Given the description of an element on the screen output the (x, y) to click on. 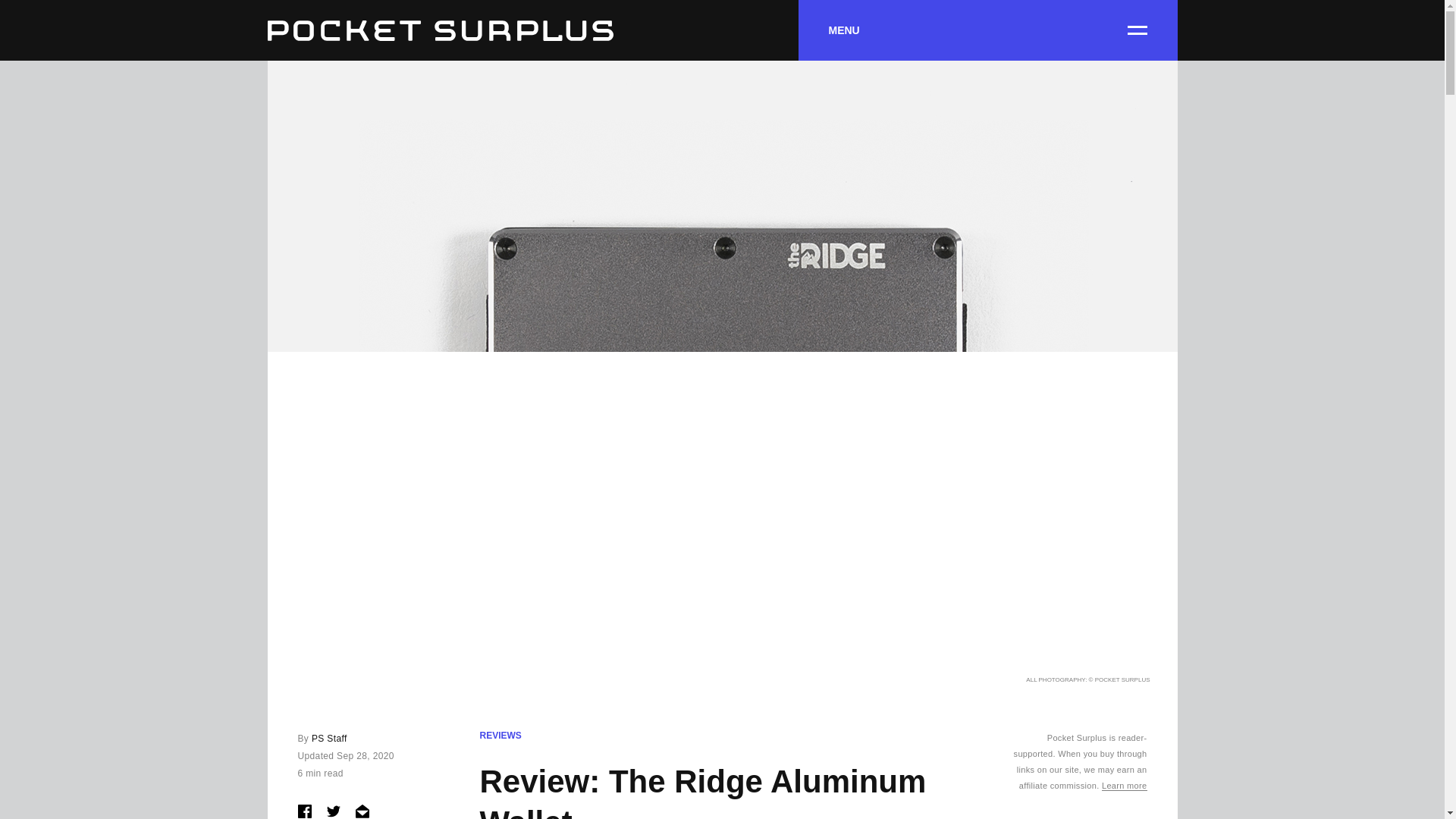
MENU (986, 30)
Learn more (1124, 786)
PS Staff (329, 738)
REVIEWS (500, 735)
